Given the description of an element on the screen output the (x, y) to click on. 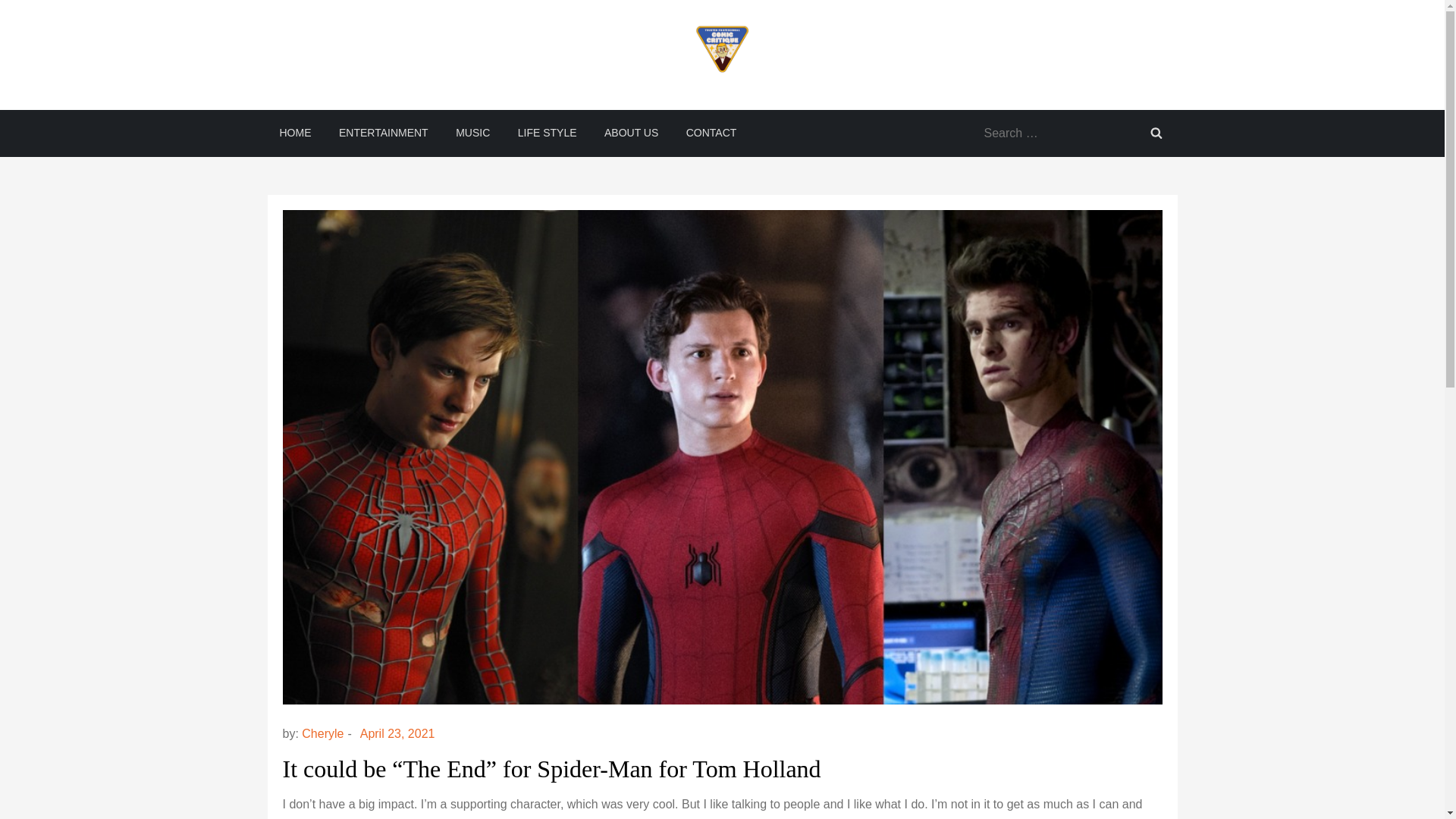
Cheryle (322, 733)
TRUSTED PROFESSIONAL (411, 104)
ABOUT US (630, 132)
April 23, 2021 (397, 733)
LIFE STYLE (547, 132)
CONTACT (711, 132)
MUSIC (473, 132)
ENTERTAINMENT (383, 132)
HOME (294, 132)
Search (1155, 132)
